Given the description of an element on the screen output the (x, y) to click on. 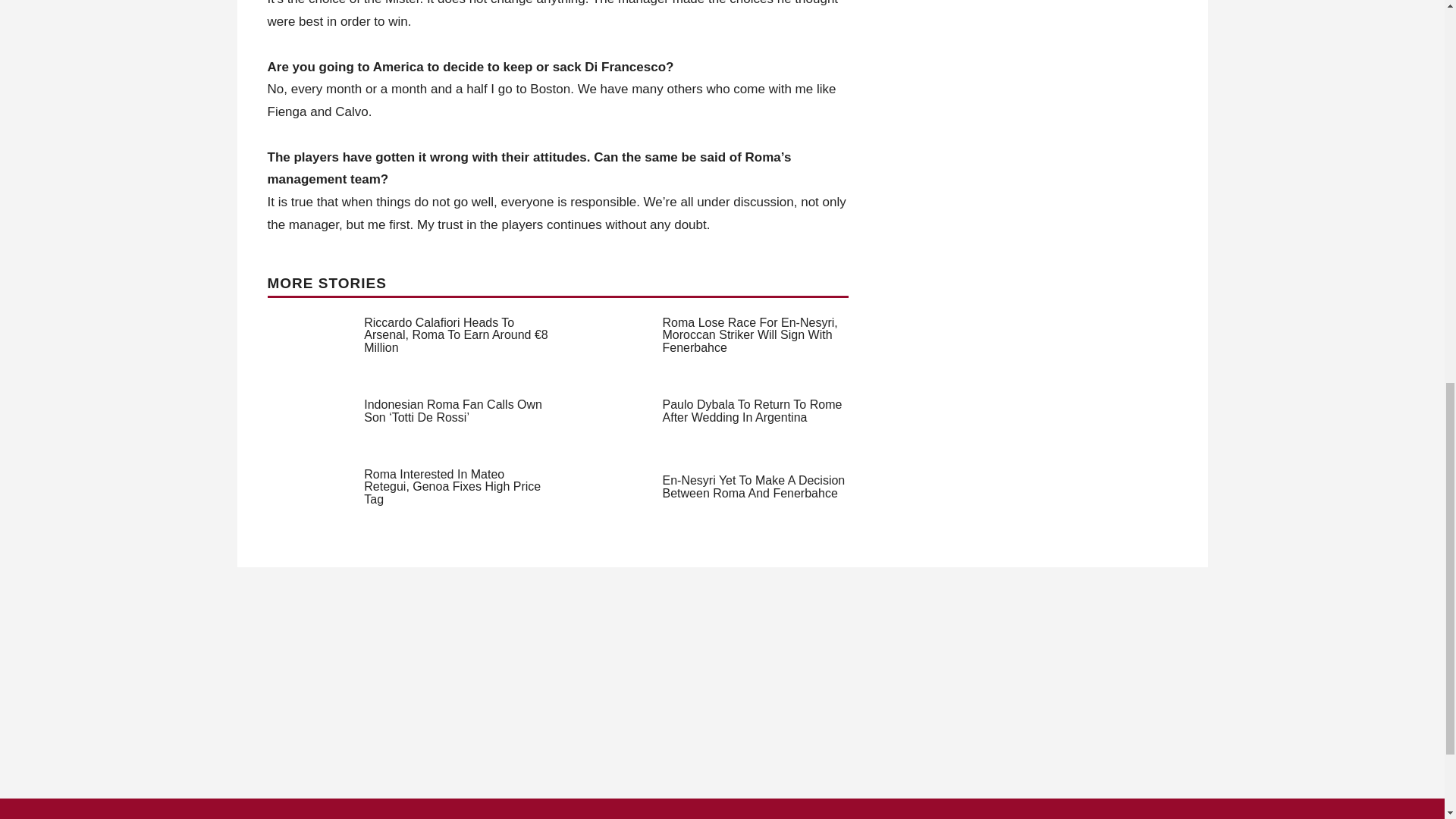
Paulo Dybala To Return To Rome After Wedding In Argentina (752, 411)
En-Nesyri Yet To Make A Decision Between Roma And Fenerbahce (753, 486)
Roma Interested In Mateo Retegui, Genoa Fixes High Price Tag (452, 486)
